Given the description of an element on the screen output the (x, y) to click on. 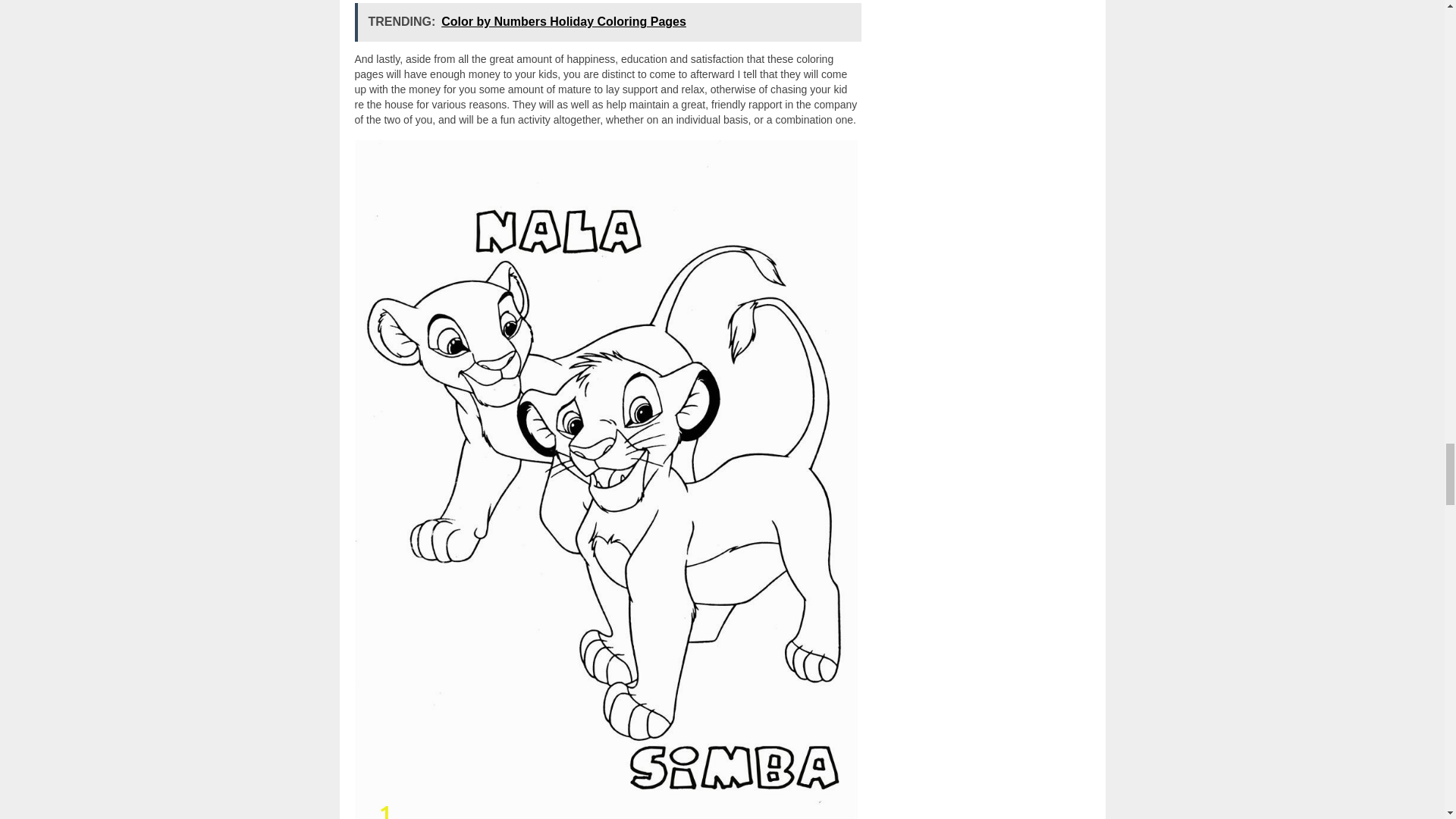
TRENDING:  Color by Numbers Holiday Coloring Pages (608, 22)
